Given the description of an element on the screen output the (x, y) to click on. 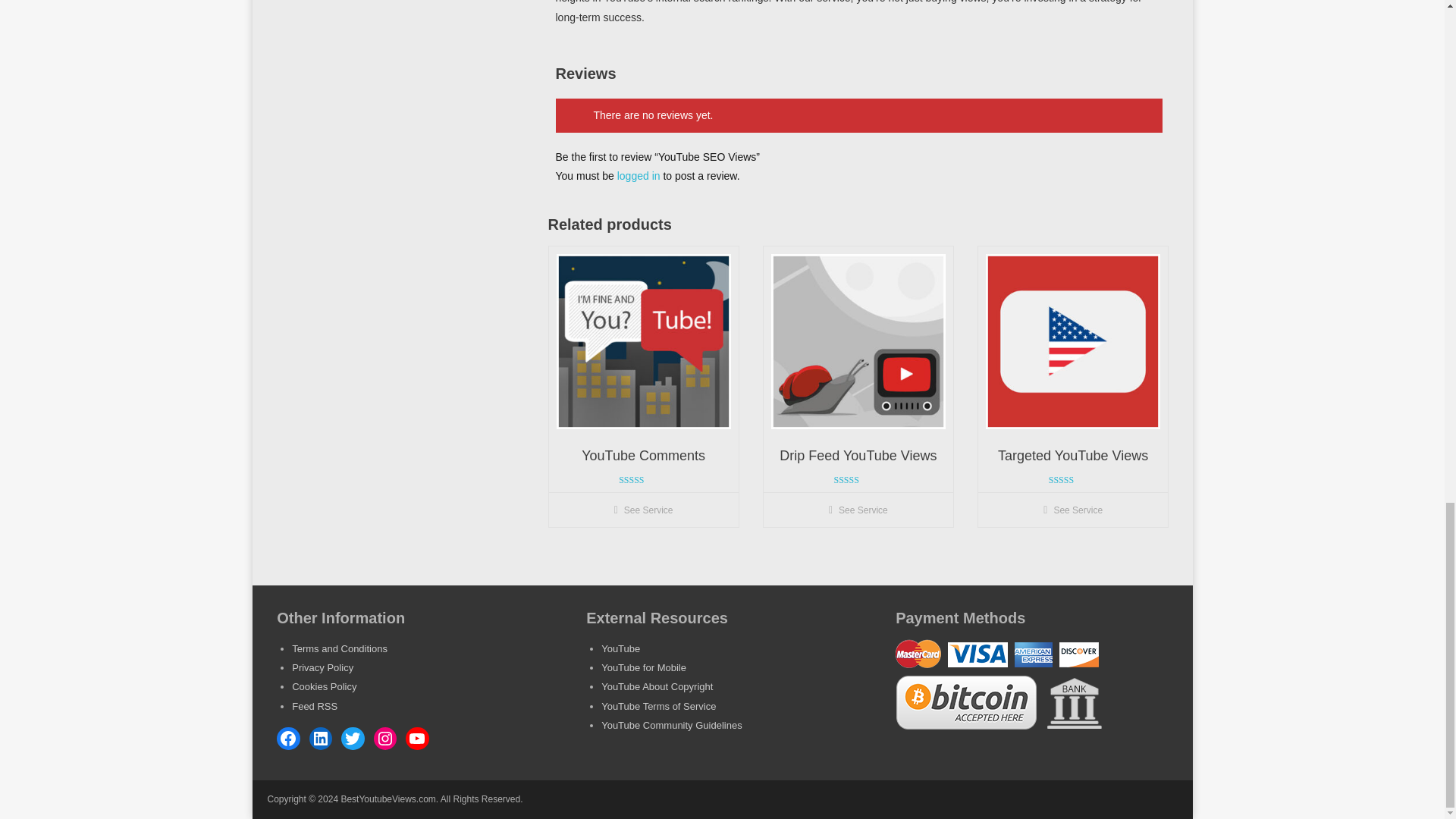
Targeted YouTube Views (1072, 455)
See Service (643, 510)
See Service (857, 510)
logged in (639, 175)
Drip Feed YouTube Views (857, 455)
See Service (1072, 510)
YouTube Comments (643, 455)
